Given the description of an element on the screen output the (x, y) to click on. 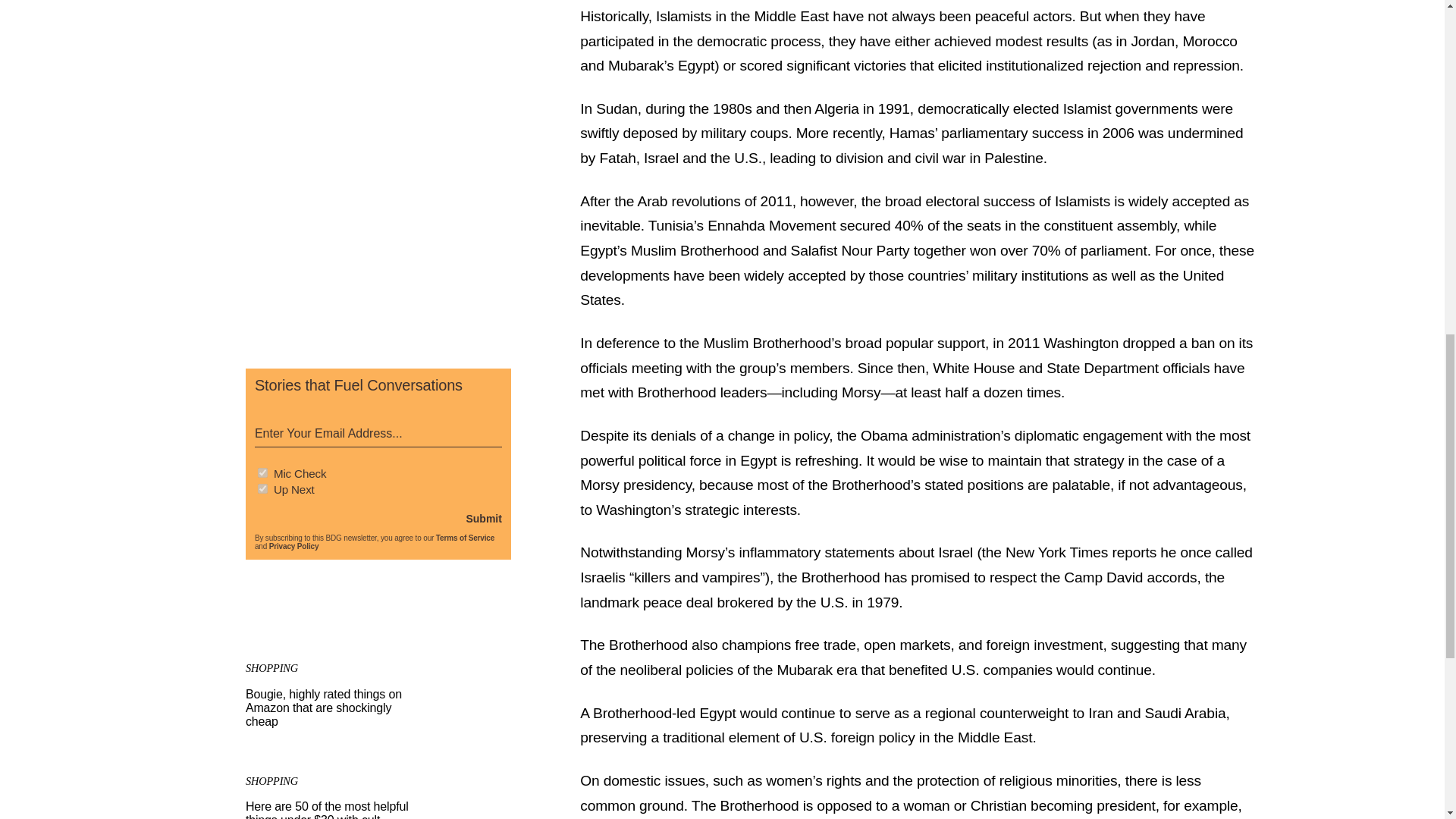
Submit (482, 513)
Privacy Policy (293, 544)
Terms of Service (465, 534)
